Given the description of an element on the screen output the (x, y) to click on. 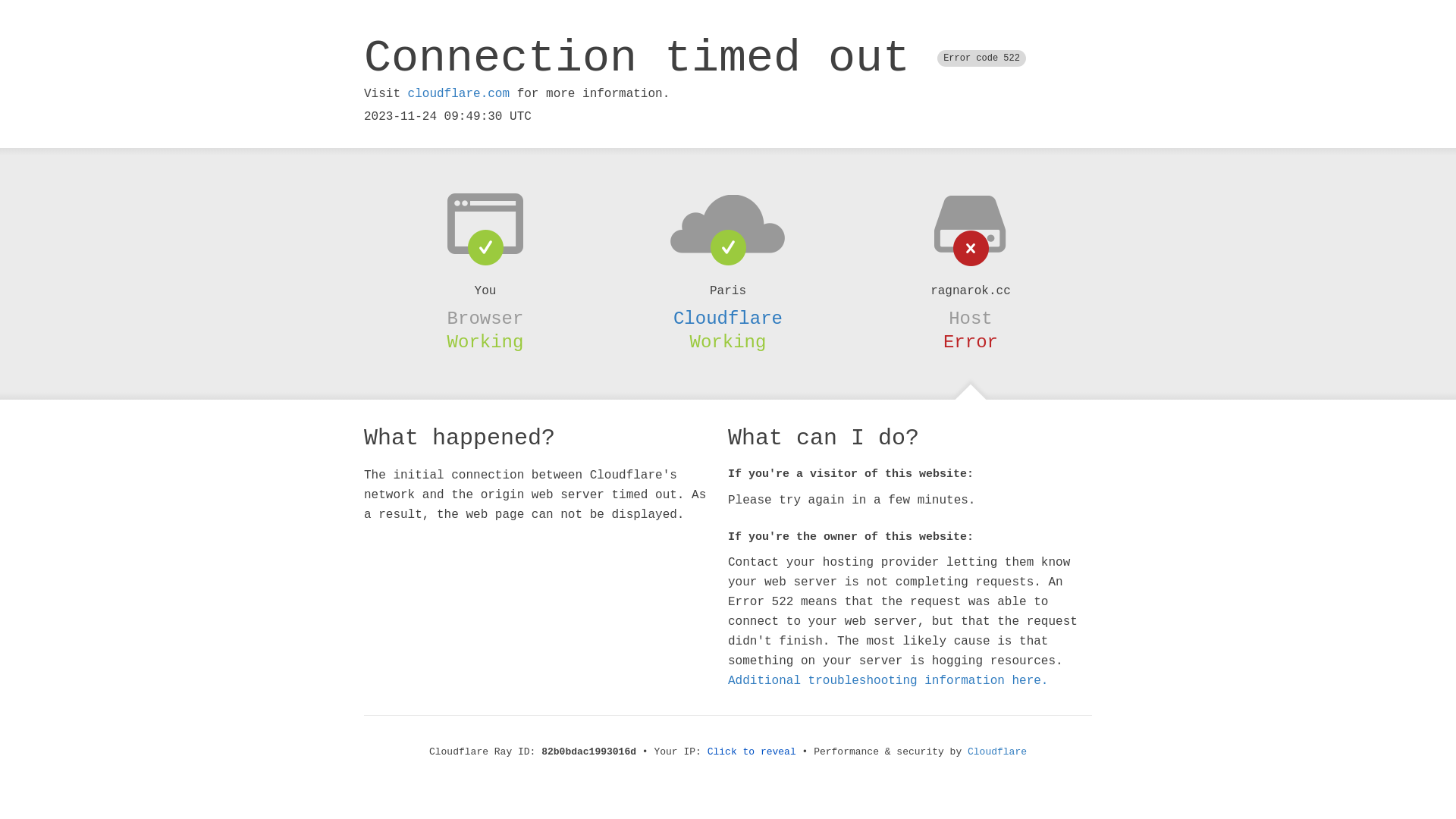
Additional troubleshooting information here. Element type: text (888, 680)
Cloudflare Element type: text (727, 318)
Cloudflare Element type: text (996, 751)
cloudflare.com Element type: text (458, 93)
Click to reveal Element type: text (751, 751)
